Given the description of an element on the screen output the (x, y) to click on. 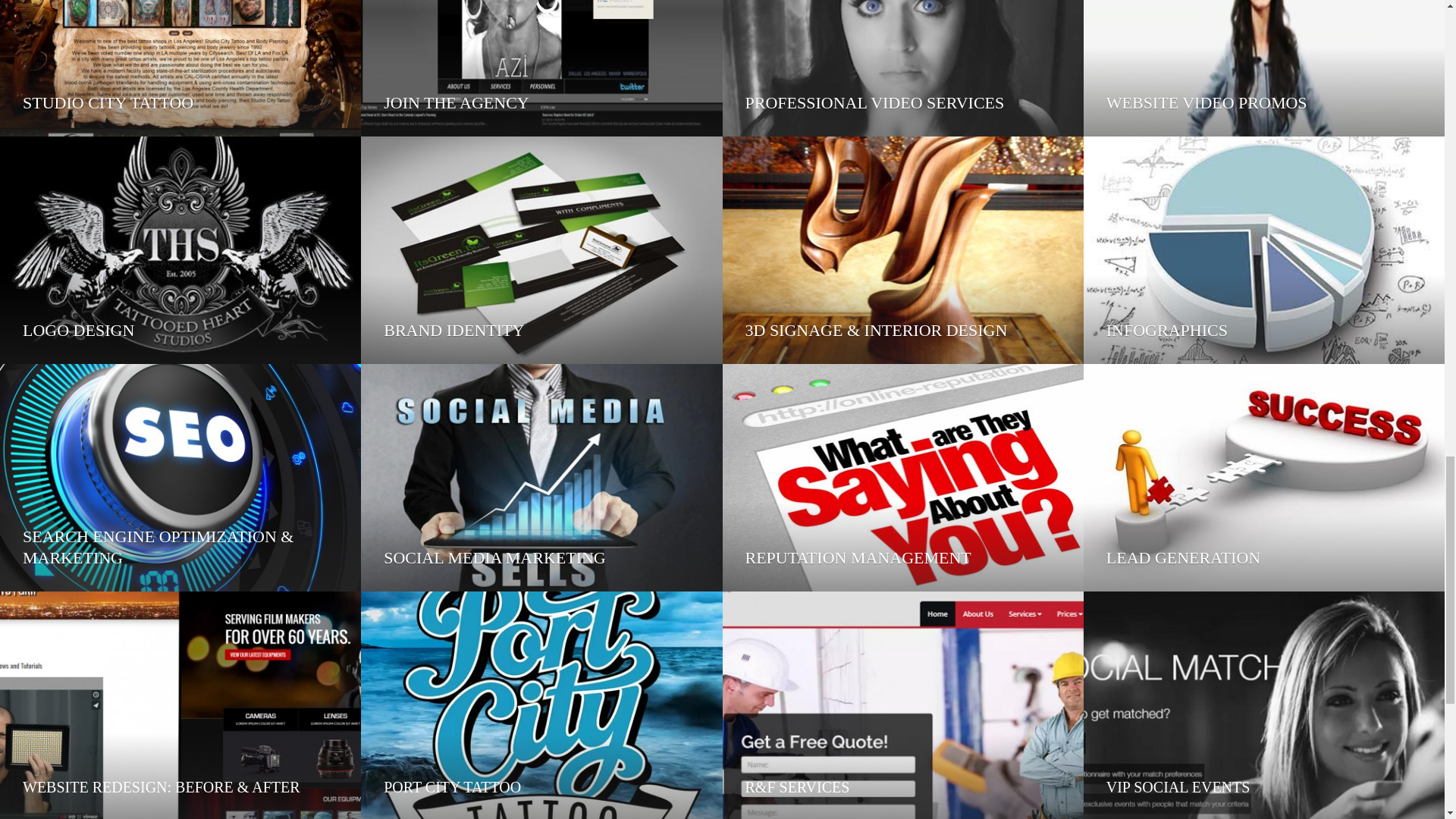
PROFESSIONAL VIDEO SERVICES (902, 68)
STUDIO CITY TATTOO (180, 68)
LOGO DESIGN (180, 249)
JOIN THE AGENCY (541, 68)
